Given the description of an element on the screen output the (x, y) to click on. 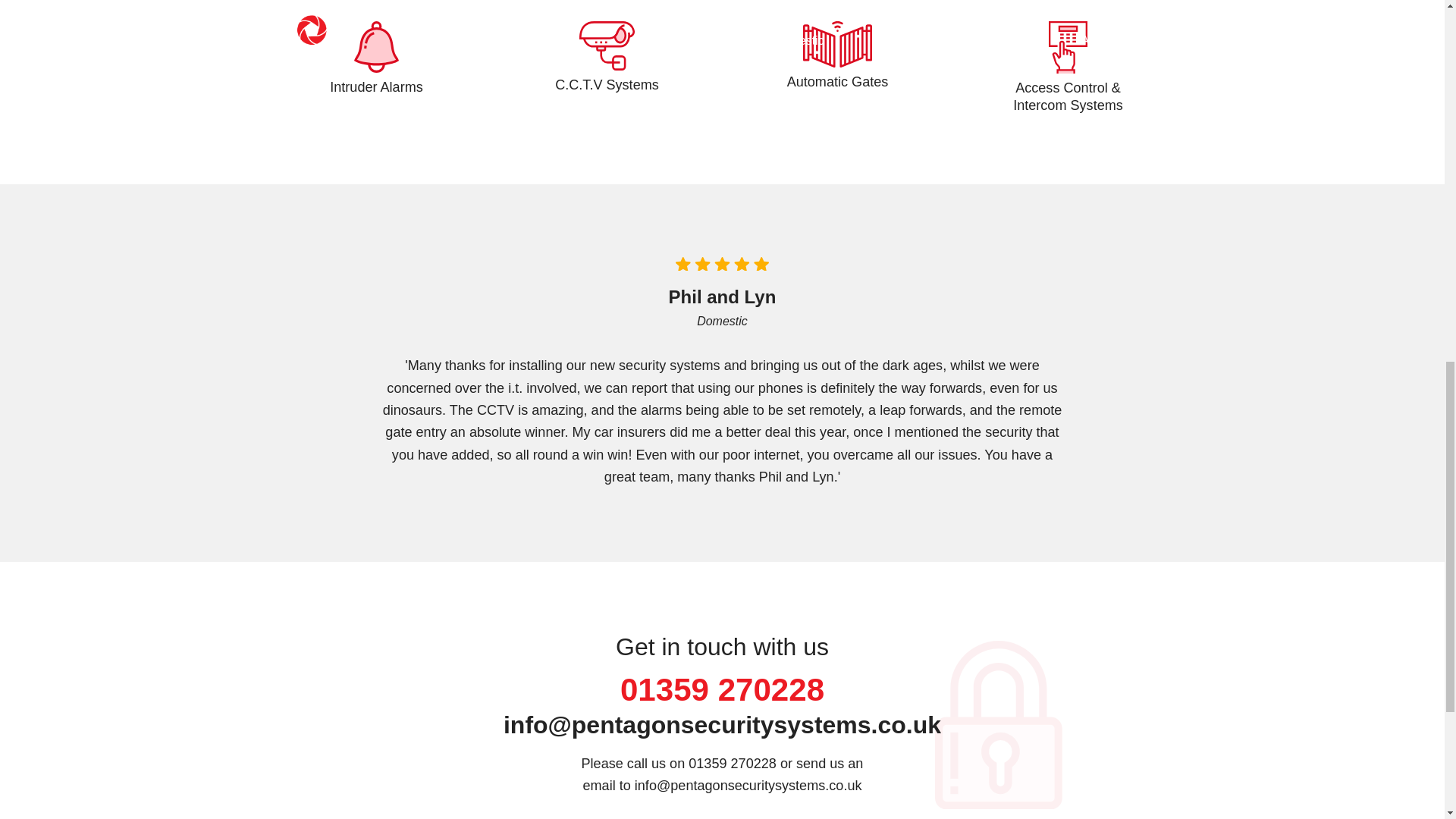
C.C.T.V Systems (606, 57)
Automatic Gates (837, 55)
01359 270228 (722, 690)
Intruder Alarms (376, 58)
